Given the description of an element on the screen output the (x, y) to click on. 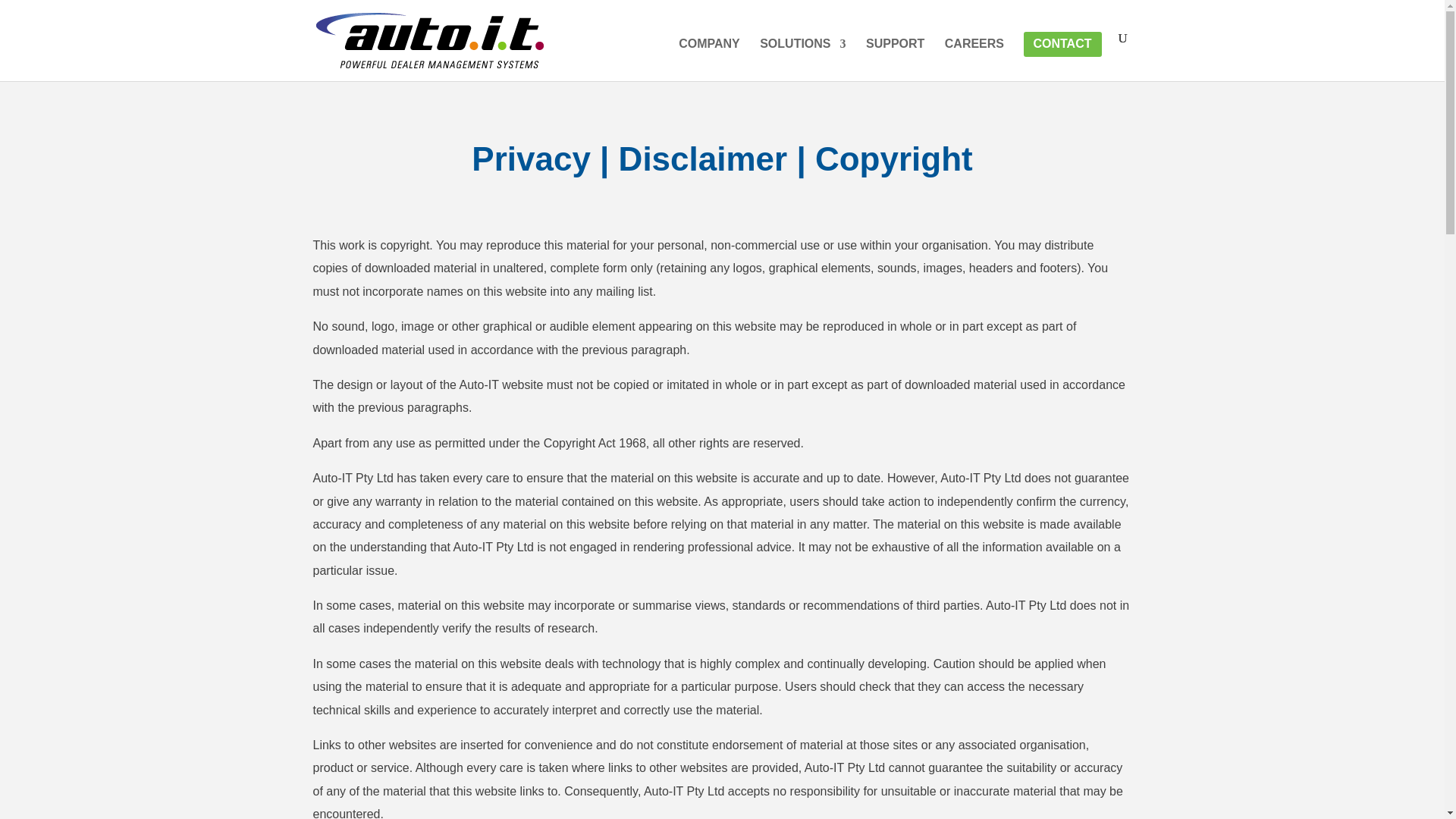
COMPANY (708, 59)
CONTACT (1061, 59)
CAREERS (974, 59)
SUPPORT (895, 59)
SOLUTIONS (802, 59)
